Given the description of an element on the screen output the (x, y) to click on. 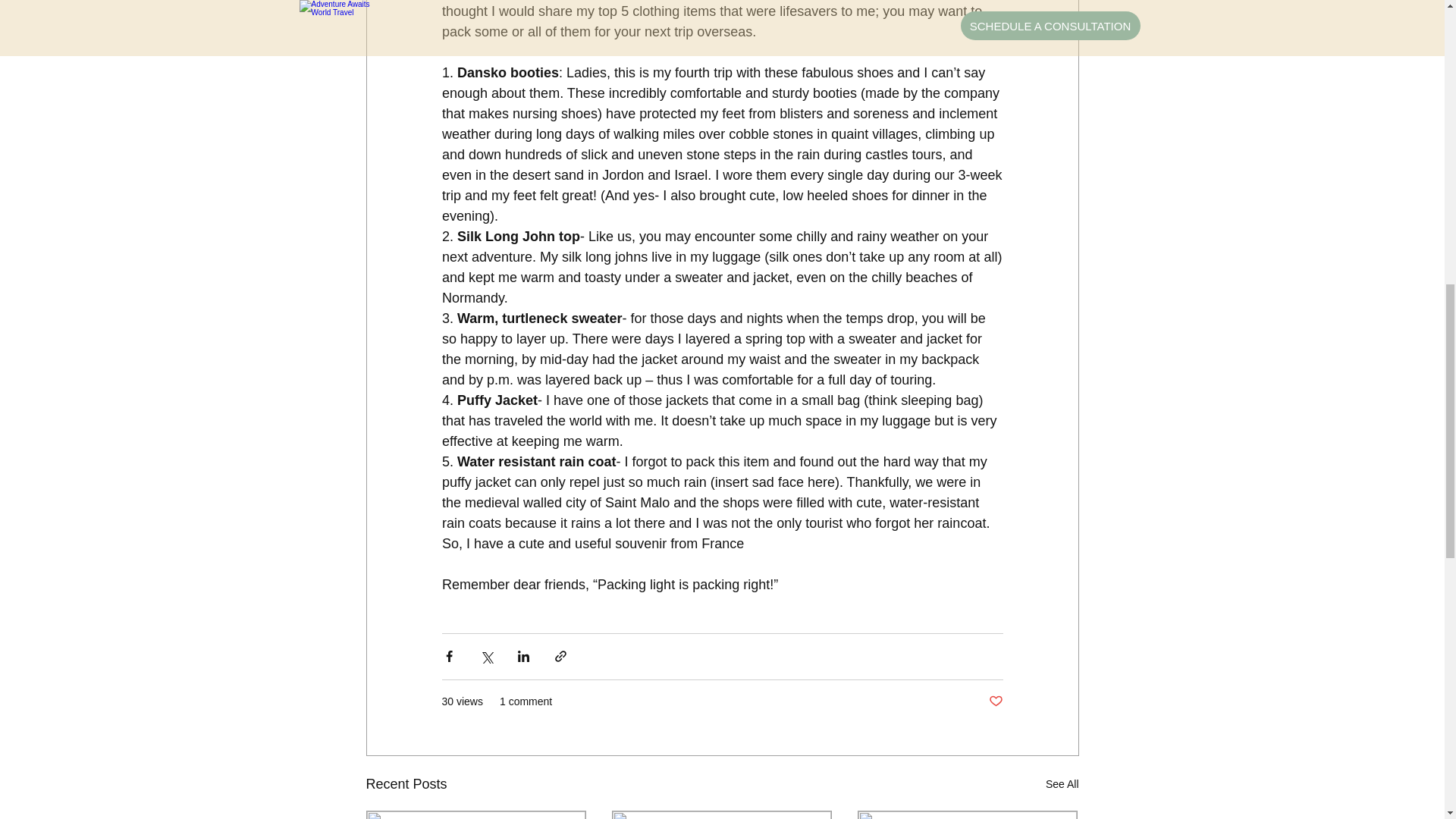
Post not marked as liked (995, 701)
See All (1061, 784)
